Given the description of an element on the screen output the (x, y) to click on. 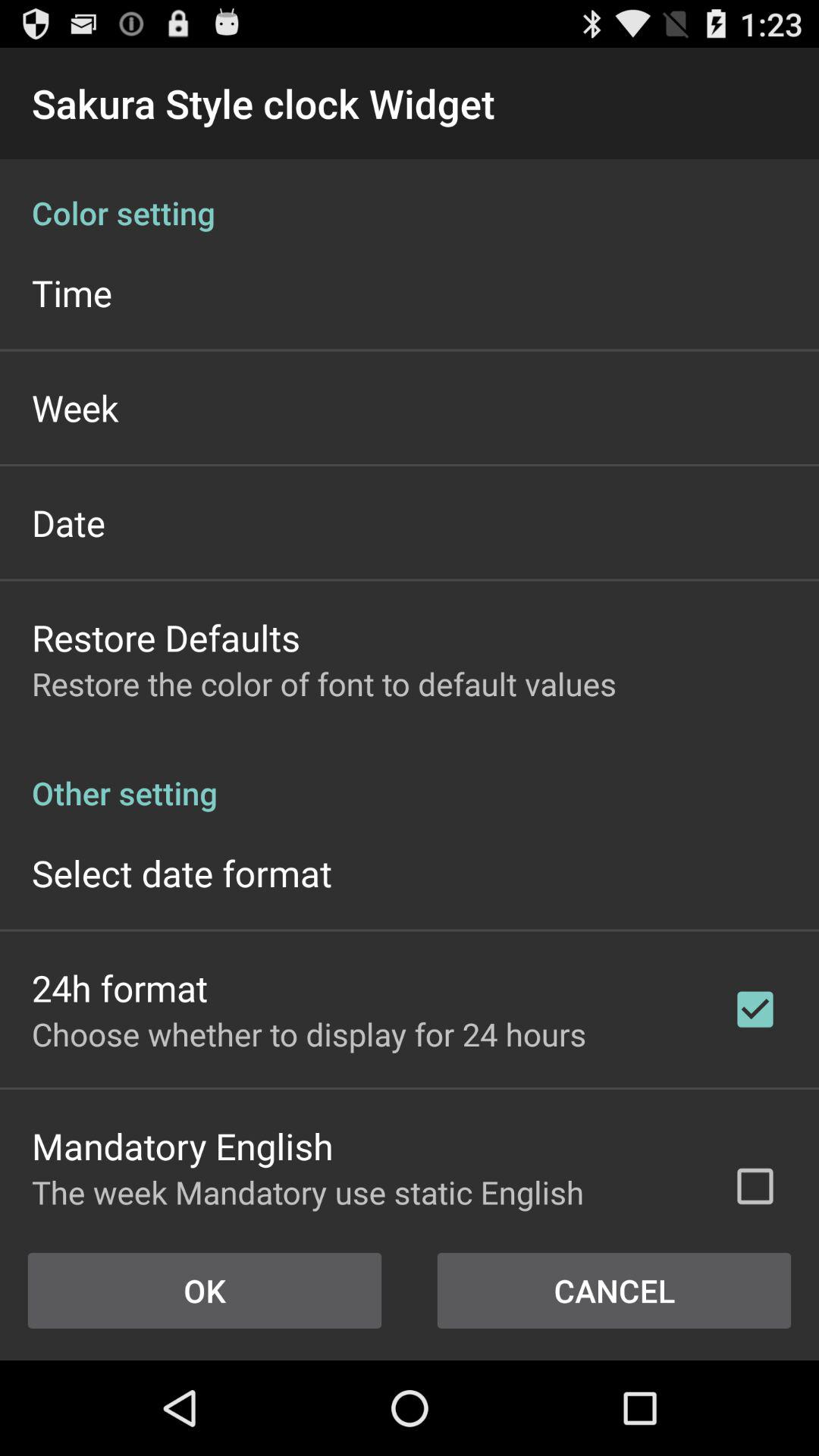
turn off the app below the color setting icon (71, 292)
